Given the description of an element on the screen output the (x, y) to click on. 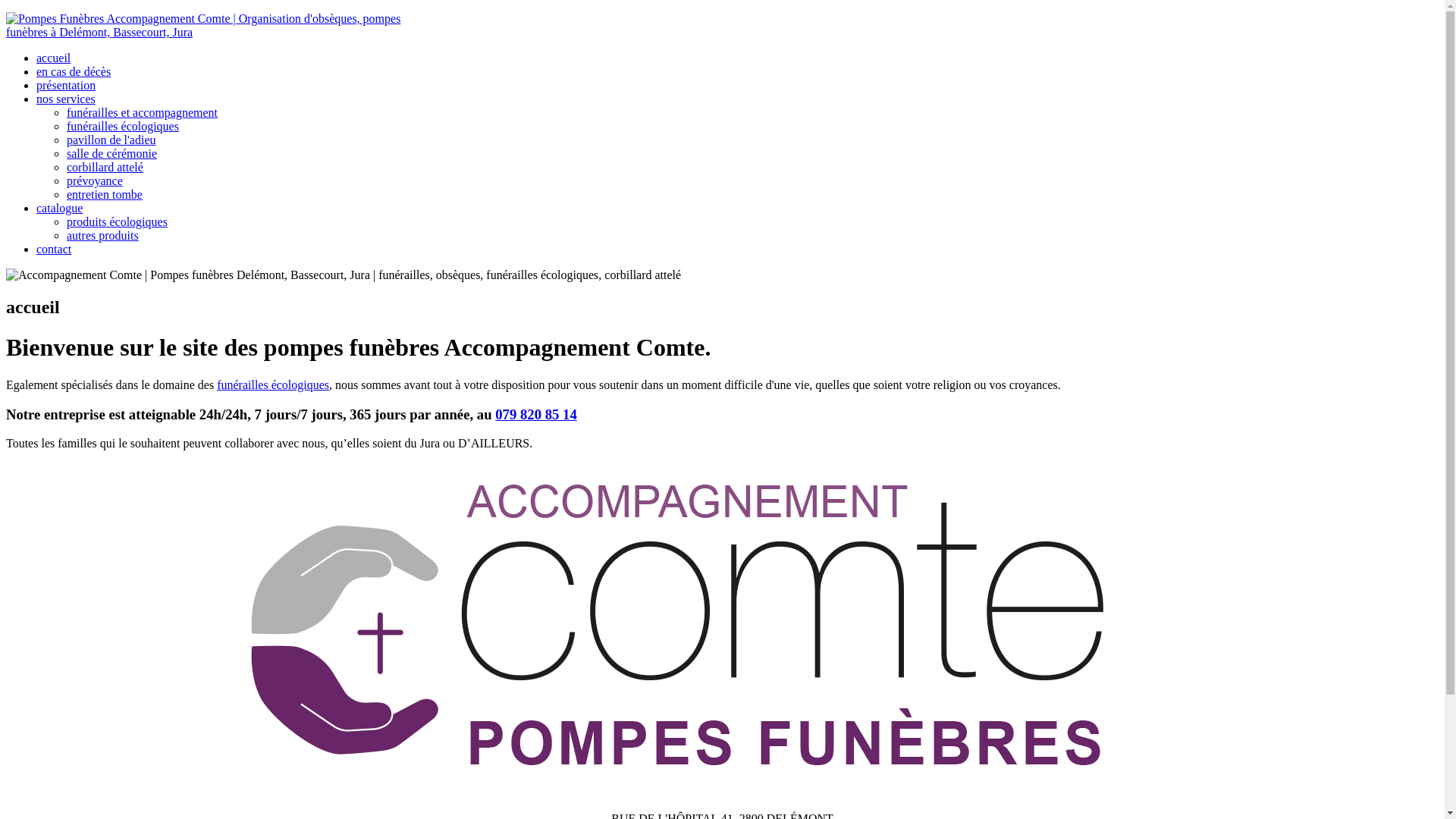
catalogue Element type: text (59, 207)
079 820 85 14 Element type: text (536, 414)
accueil Element type: text (53, 57)
autres produits Element type: text (102, 235)
contact Element type: text (53, 248)
pavillon de l'adieu Element type: text (111, 139)
nos services Element type: text (65, 98)
entretien tombe Element type: text (104, 194)
